Given the description of an element on the screen output the (x, y) to click on. 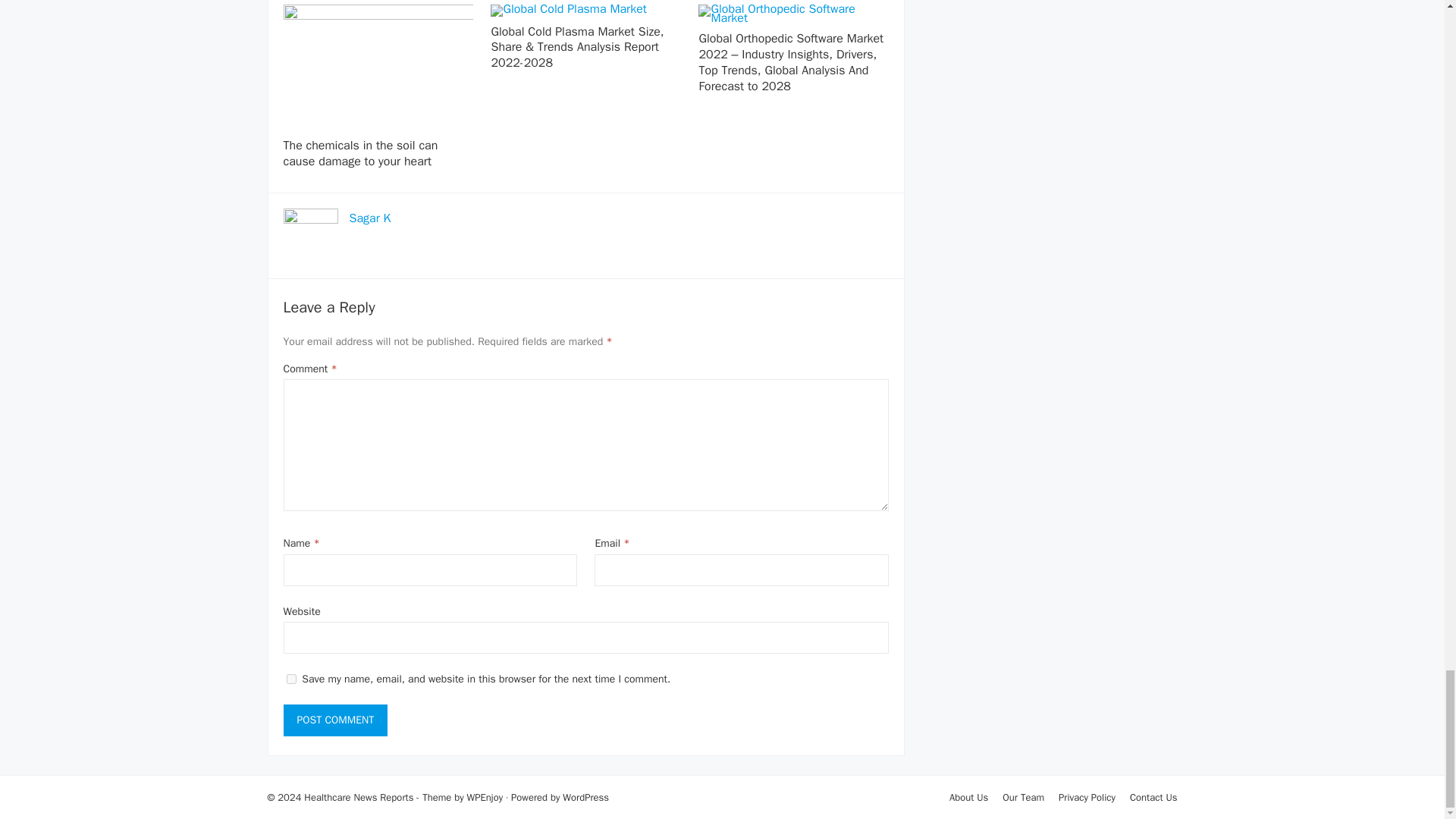
yes (291, 678)
Post Comment (335, 720)
